Given the description of an element on the screen output the (x, y) to click on. 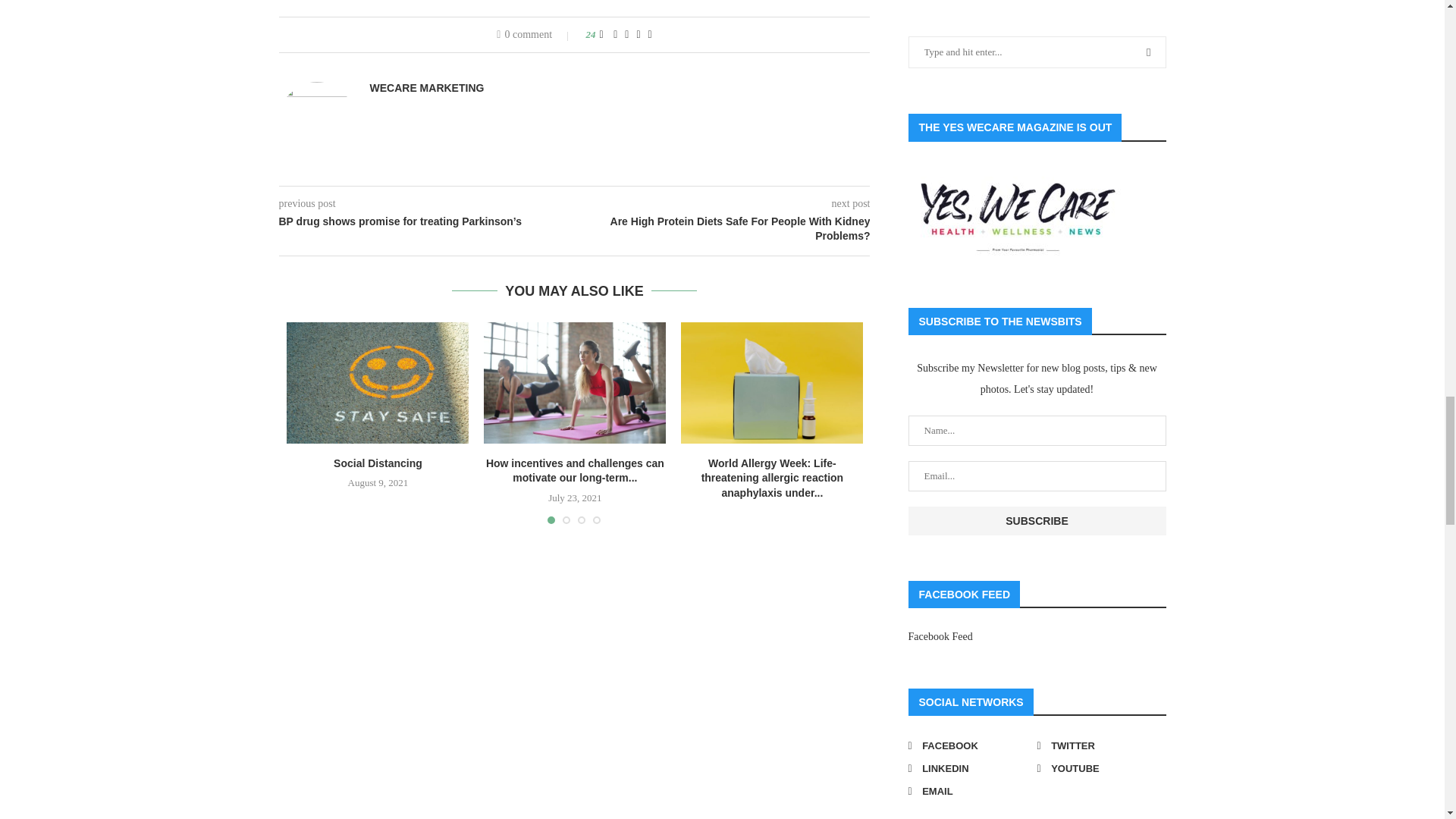
Author WeCare Marketing (426, 87)
Social Distancing (377, 382)
Subscribe (1037, 520)
